Given the description of an element on the screen output the (x, y) to click on. 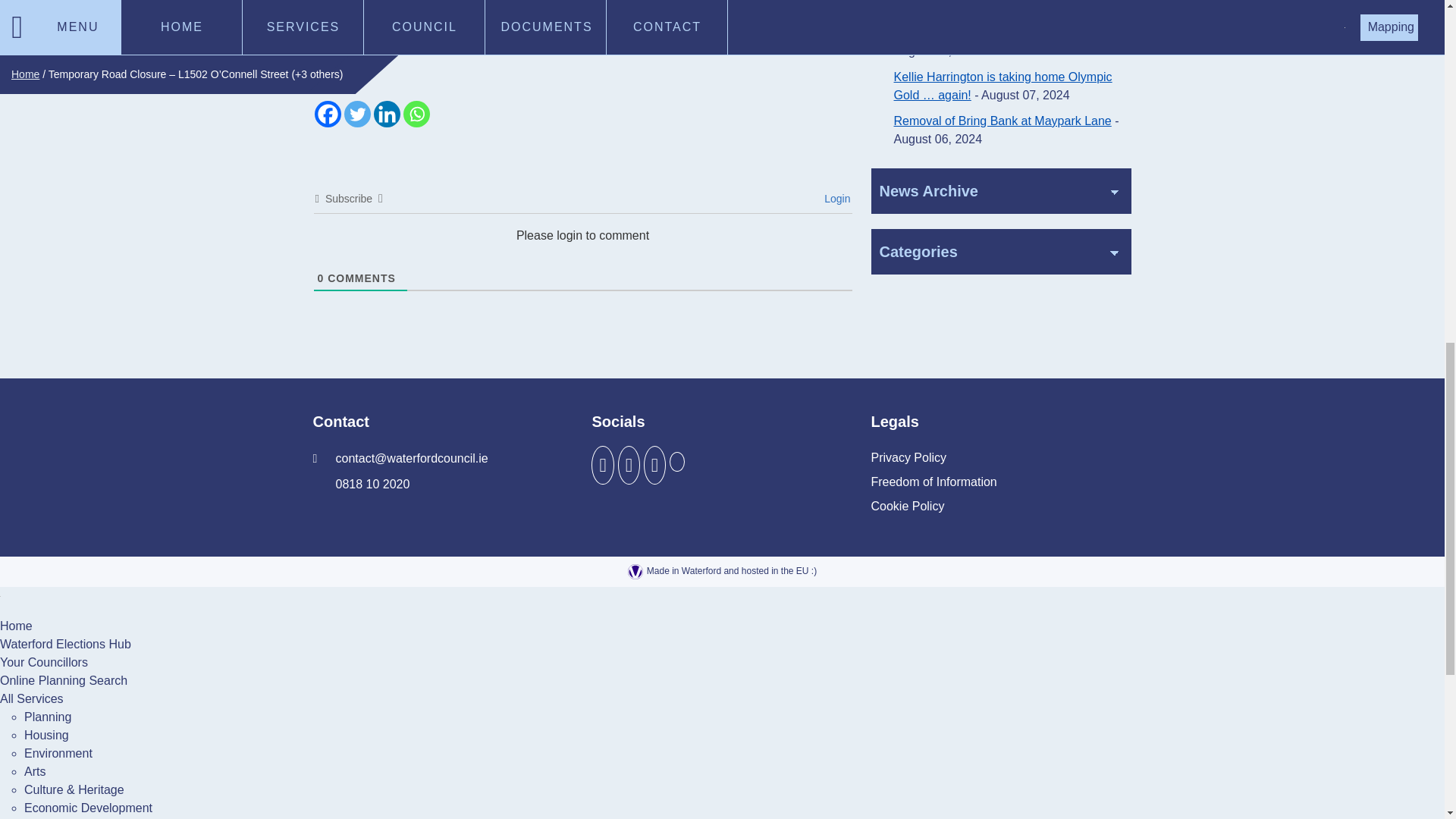
Removal of Bring Bank at Maypark Lane (1001, 120)
Cookie Policy (906, 506)
Freedom of Information (932, 482)
Privacy Policy (908, 457)
Twitter (357, 113)
0818 10 2020 (361, 484)
Good News for Built Heritage in Waterford (1006, 32)
Whatsapp (416, 113)
Login (834, 198)
Linkedin (385, 113)
